Given the description of an element on the screen output the (x, y) to click on. 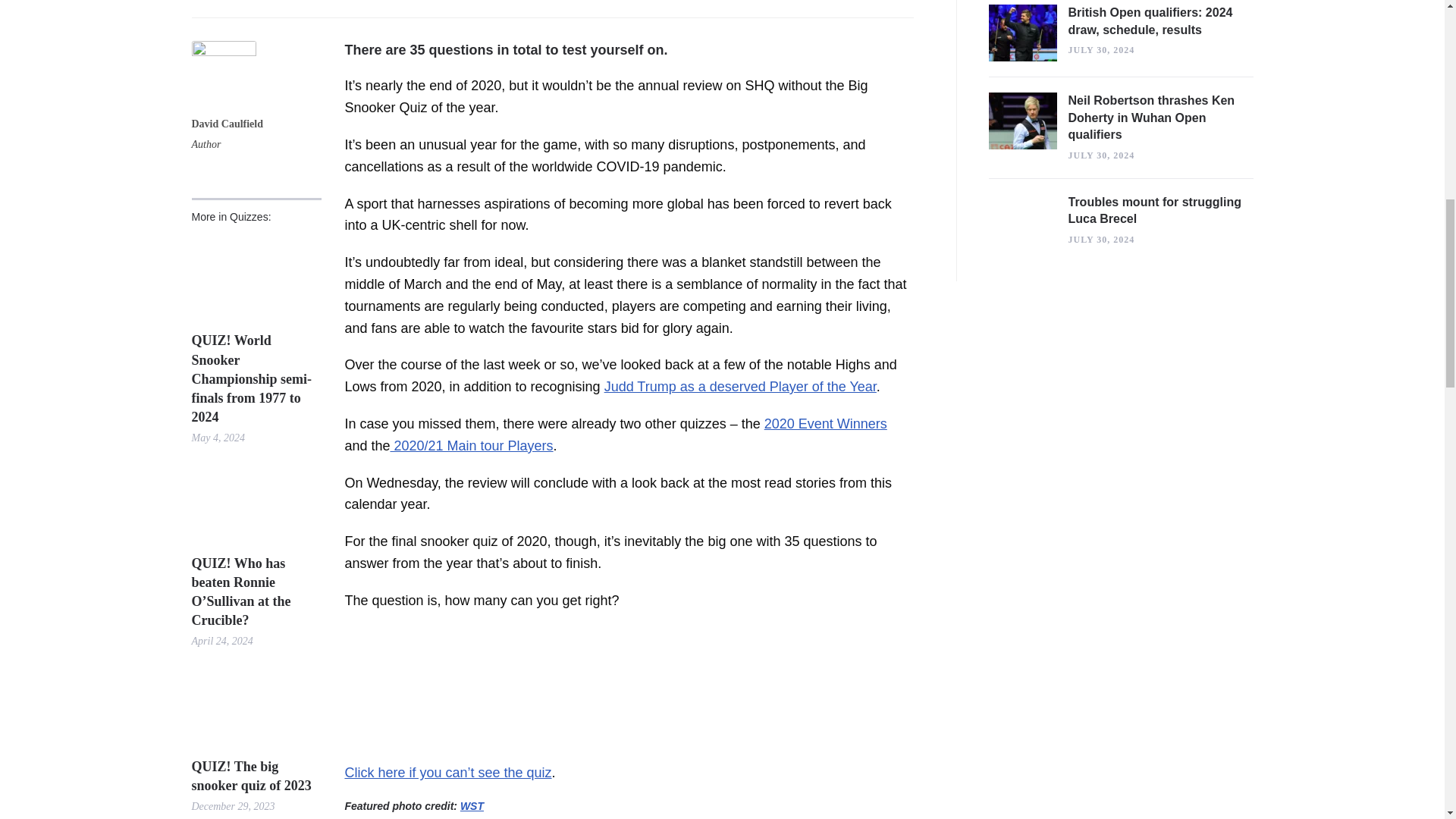
Permalink to QUIZ! The big snooker quiz of 2023 (255, 703)
Permalink to QUIZ! The big snooker quiz of 2023 (255, 776)
Posts by David Caulfield (226, 125)
